Given the description of an element on the screen output the (x, y) to click on. 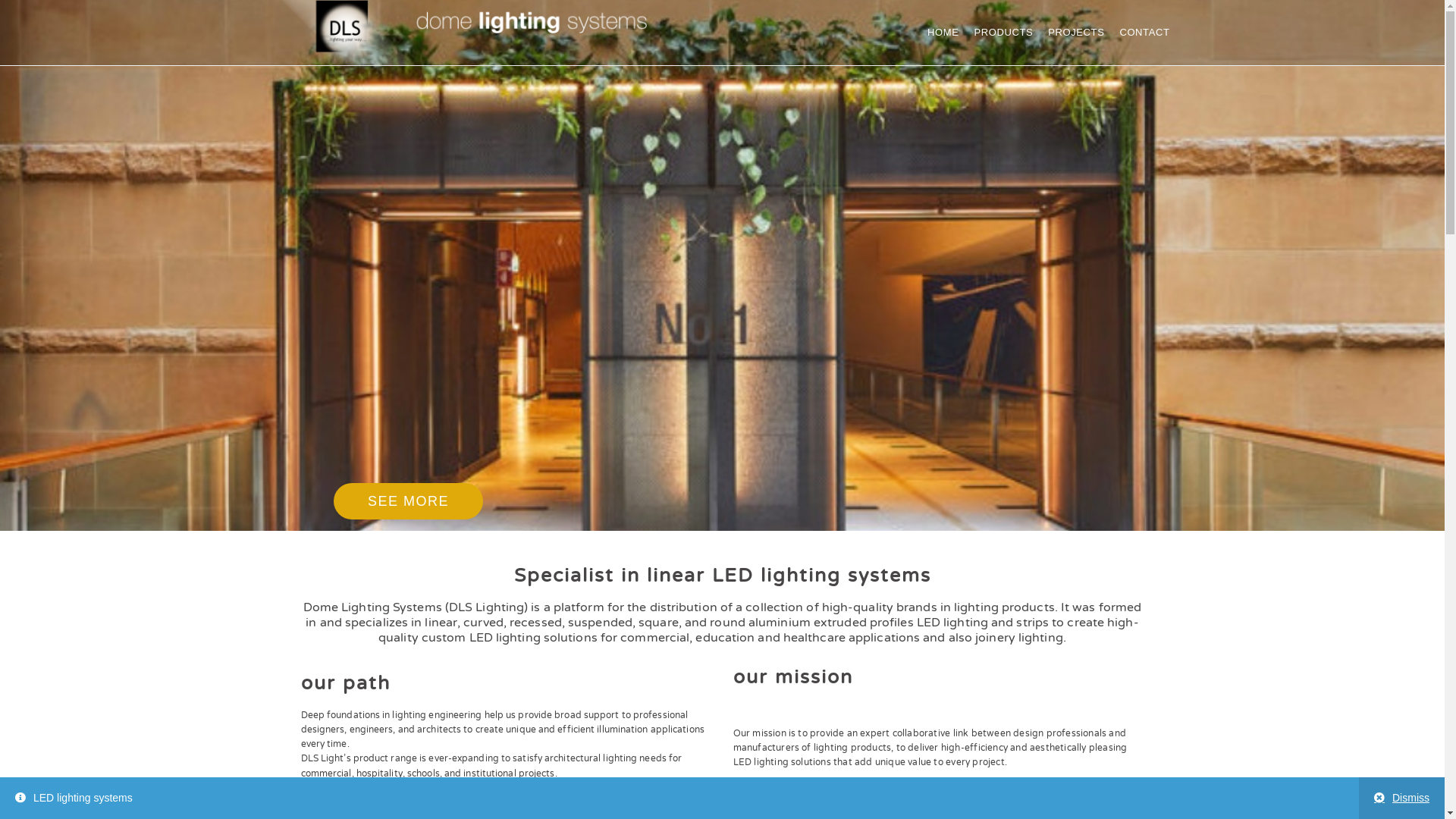
SEE MORE Element type: text (408, 501)
CONTACT Element type: text (1143, 32)
PRODUCTS Element type: text (1003, 32)
PROJECTS Element type: text (1075, 32)
HOME Element type: text (942, 32)
